Given the description of an element on the screen output the (x, y) to click on. 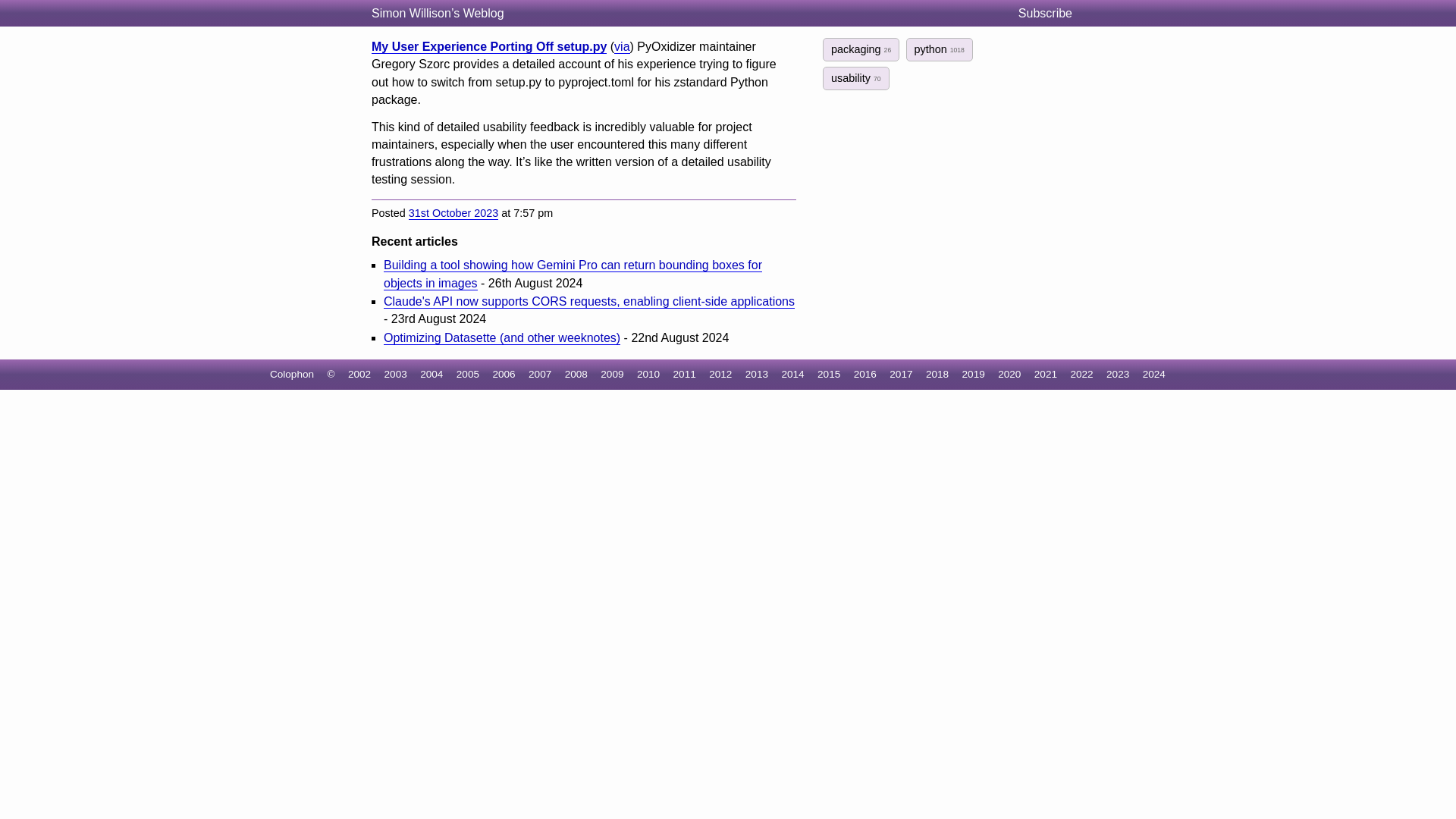
2019 (973, 374)
2017 (900, 374)
2015 (828, 374)
2010 (648, 374)
2013 (756, 374)
usability 70 (855, 78)
2008 (576, 374)
2023 (1117, 374)
2006 (503, 374)
